Given the description of an element on the screen output the (x, y) to click on. 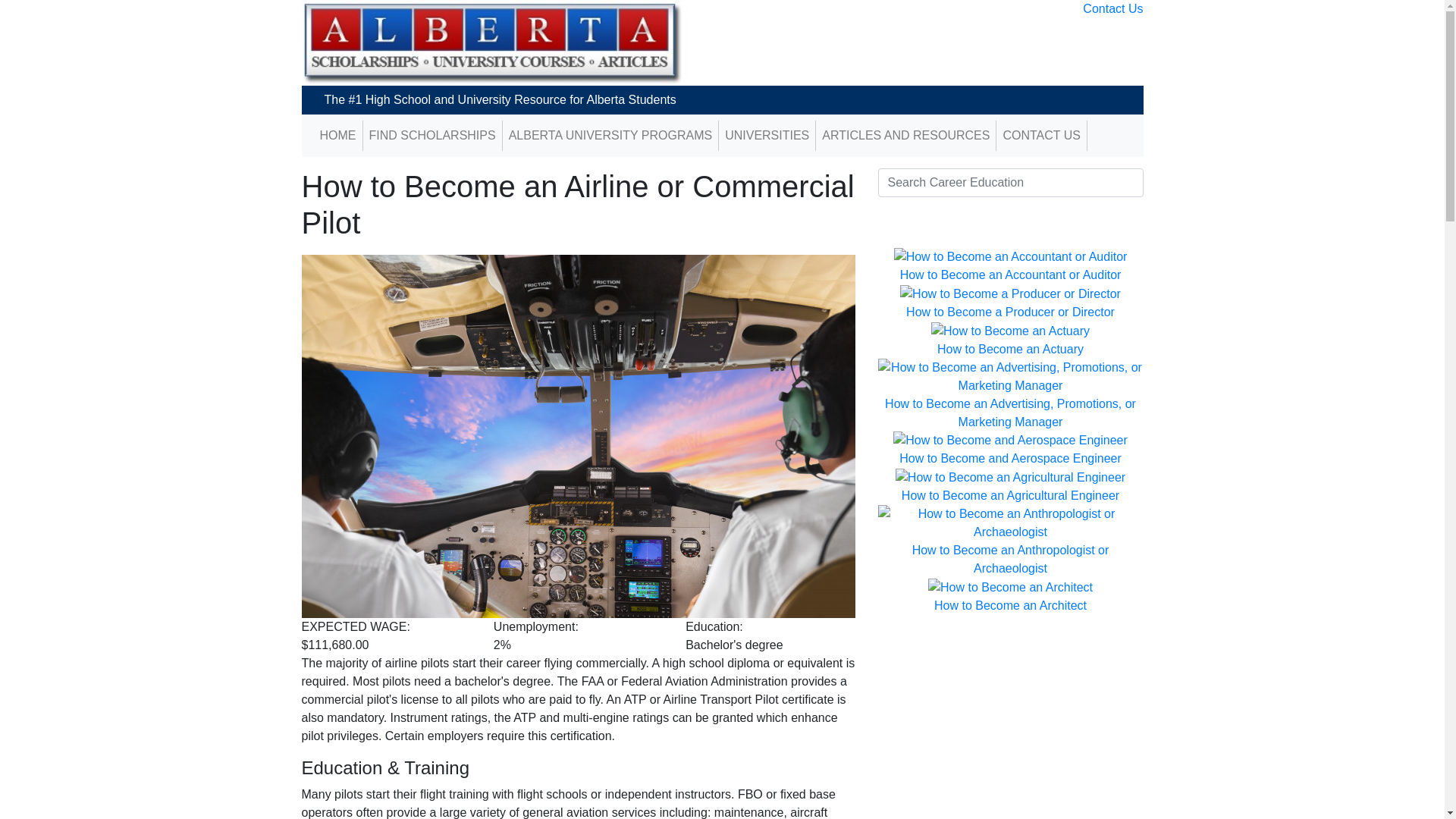
How to Become a Producer or Director Element type: text (1010, 311)
How to Become an Actuary Element type: text (1010, 348)
CONTACT US Element type: text (1041, 135)
How to Become an Architect Element type: text (1010, 605)
UNIVERSITIES Element type: text (766, 135)
How to Become and Aerospace Engineer Element type: text (1010, 457)
Contact Us Element type: text (1112, 8)
How to Become an Anthropologist or Archaeologist Element type: text (1010, 558)
FIND SCHOLARSHIPS Element type: text (431, 135)
ALBERTA UNIVERSITY PROGRAMS Element type: text (610, 135)
ARTICLES AND RESOURCES Element type: text (905, 135)
How to Become an Agricultural Engineer Element type: text (1010, 495)
How to Become an Accountant or Auditor Element type: text (1010, 274)
HOME Element type: text (337, 135)
